Given the description of an element on the screen output the (x, y) to click on. 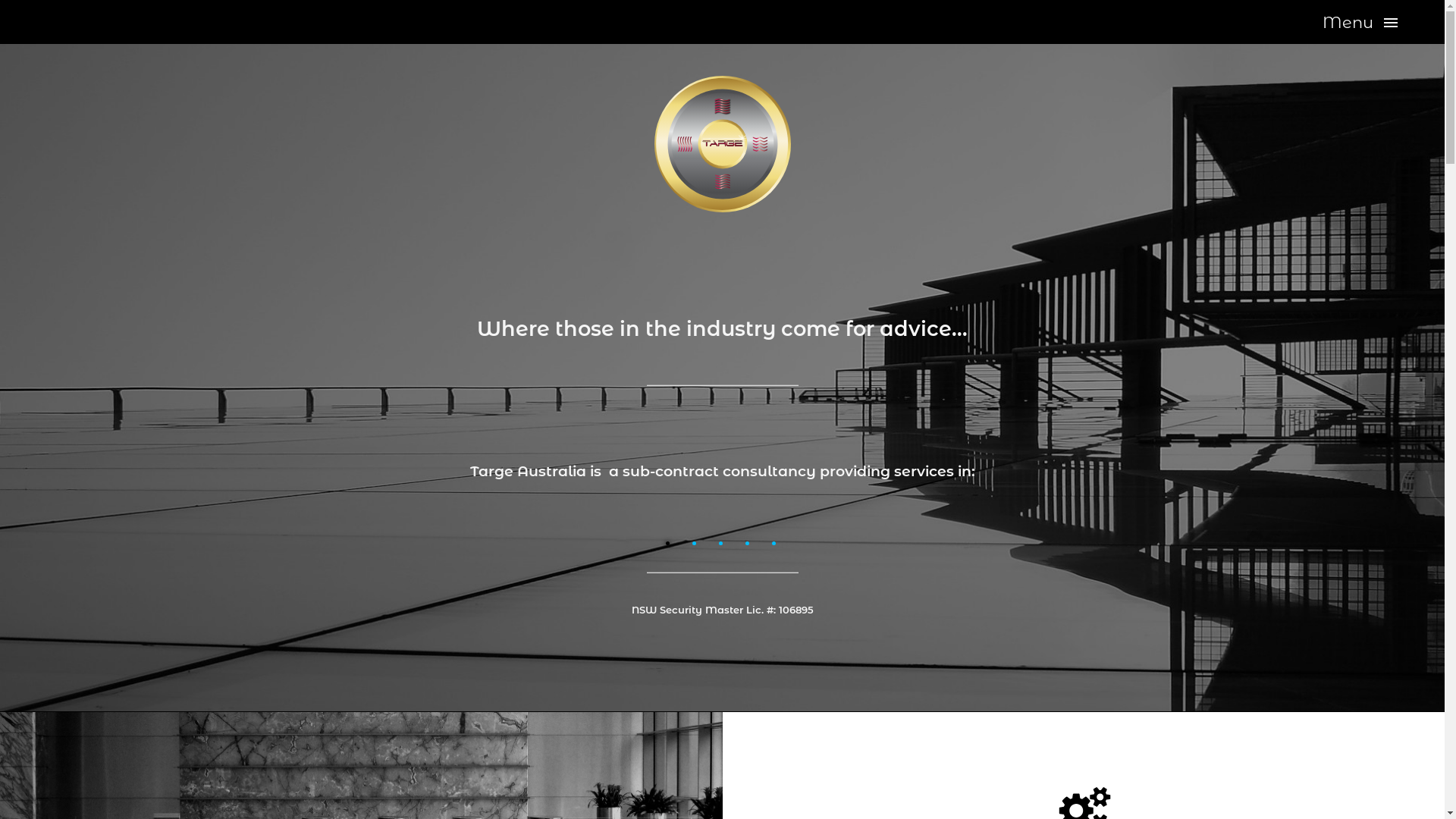
Menu Element type: text (1360, 22)
Targe Logo Element type: hover (721, 143)
